Given the description of an element on the screen output the (x, y) to click on. 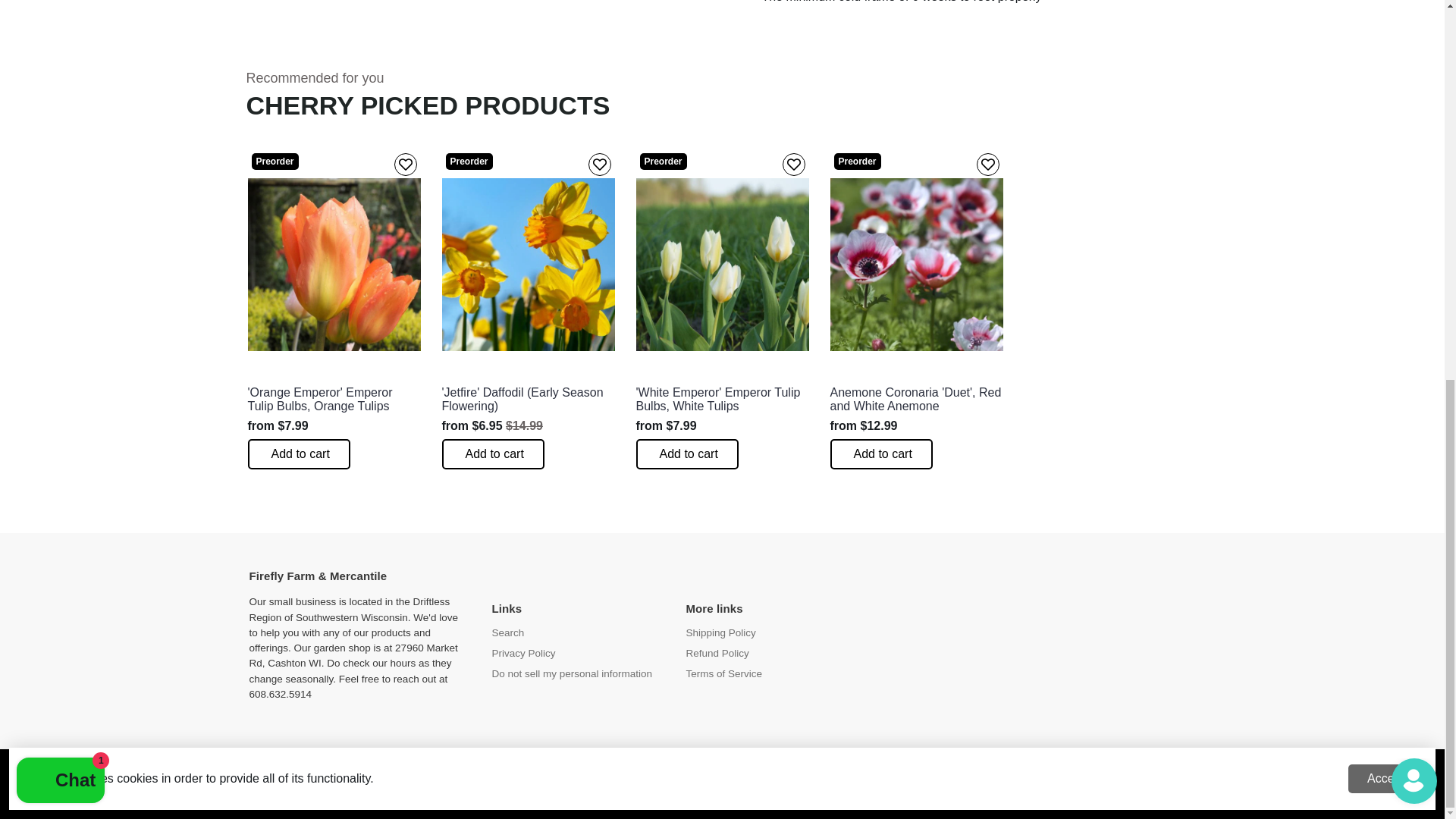
Google Pay (721, 795)
Diners Club (625, 795)
Mastercard (753, 795)
Shopify online store chat (60, 77)
Meta Pay (689, 795)
American Express (562, 795)
Discover (657, 795)
Apple Pay (593, 795)
